Given the description of an element on the screen output the (x, y) to click on. 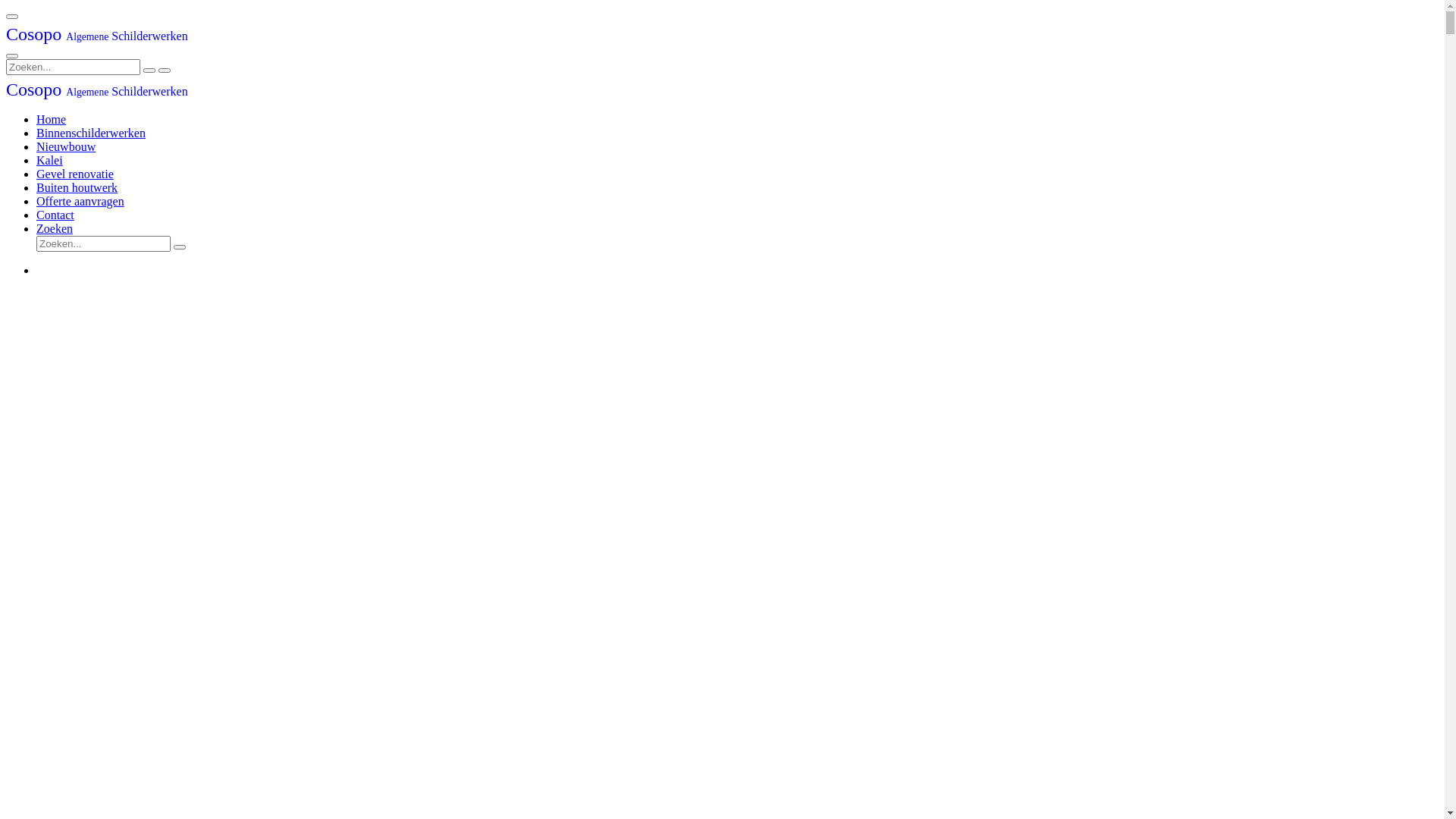
Home Element type: text (50, 118)
Gevel renovatie Element type: text (74, 173)
Buiten houtwerk Element type: text (76, 187)
Binnenschilderwerken Element type: text (90, 132)
Kalei Element type: text (49, 159)
Contact Element type: text (55, 214)
Nieuwbouw Element type: text (65, 146)
Cosopo Algemene Schilderwerken Element type: text (97, 90)
Cosopo Algemene Schilderwerken Element type: text (97, 35)
Zoeken Element type: text (54, 228)
Offerte aanvragen Element type: text (80, 200)
